Given the description of an element on the screen output the (x, y) to click on. 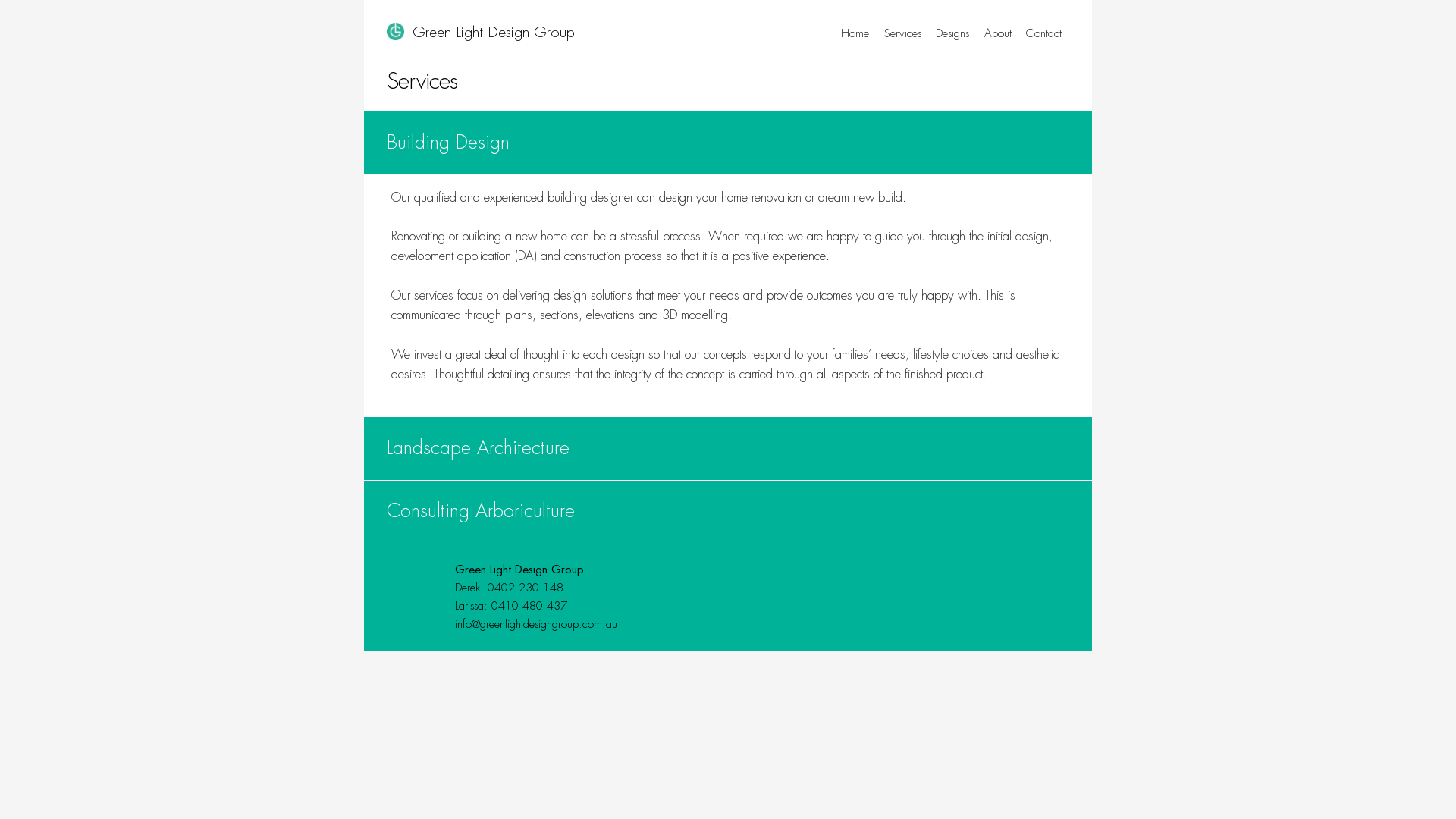
Contact Element type: text (1044, 33)
Home Element type: text (855, 33)
Services Element type: text (902, 33)
About Element type: text (997, 33)
Designs Element type: text (952, 33)
